Given the description of an element on the screen output the (x, y) to click on. 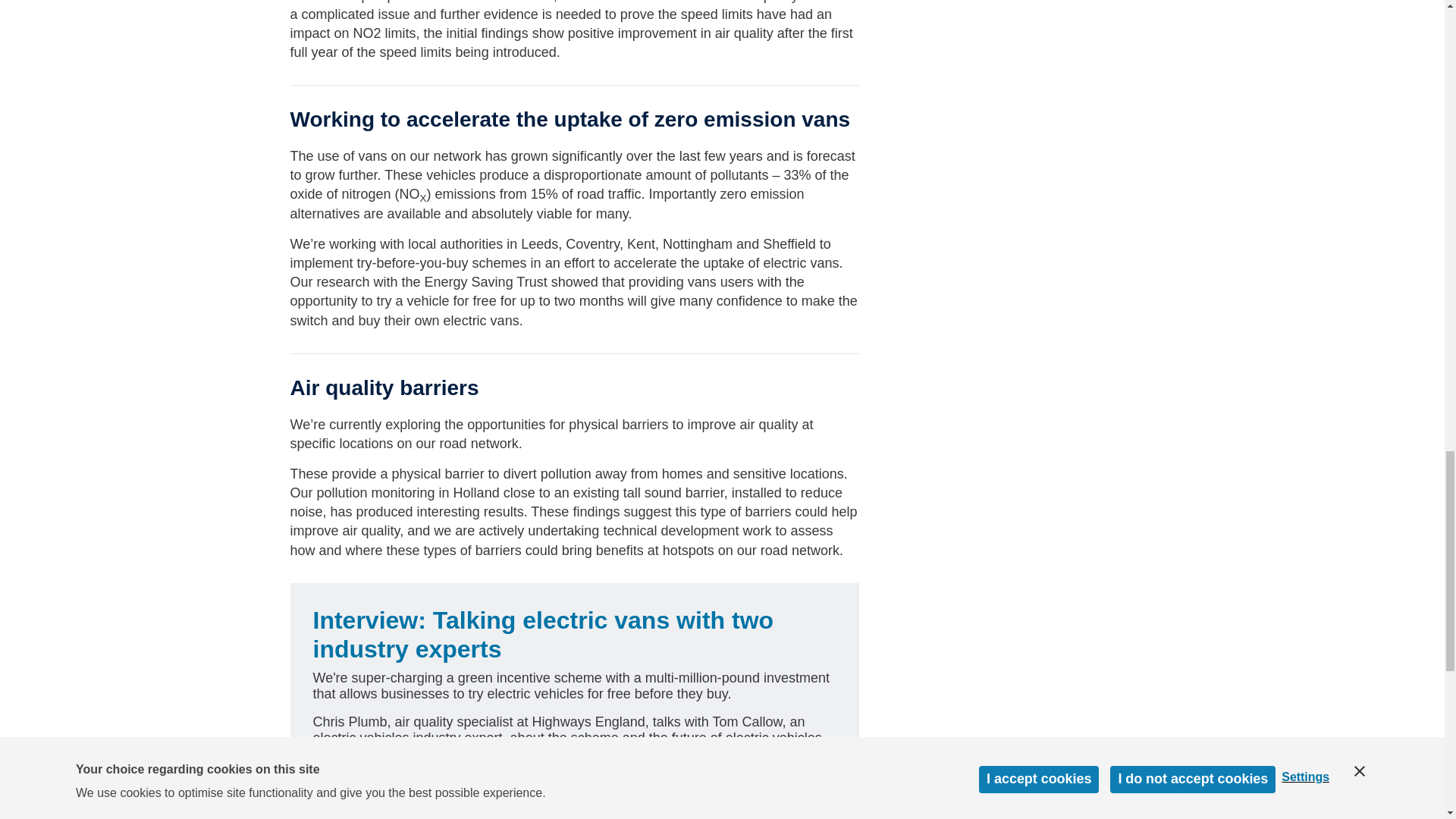
Talking electric vans with two industry experts (543, 634)
Interview: Talking electric vans with two industry experts (543, 634)
